Given the description of an element on the screen output the (x, y) to click on. 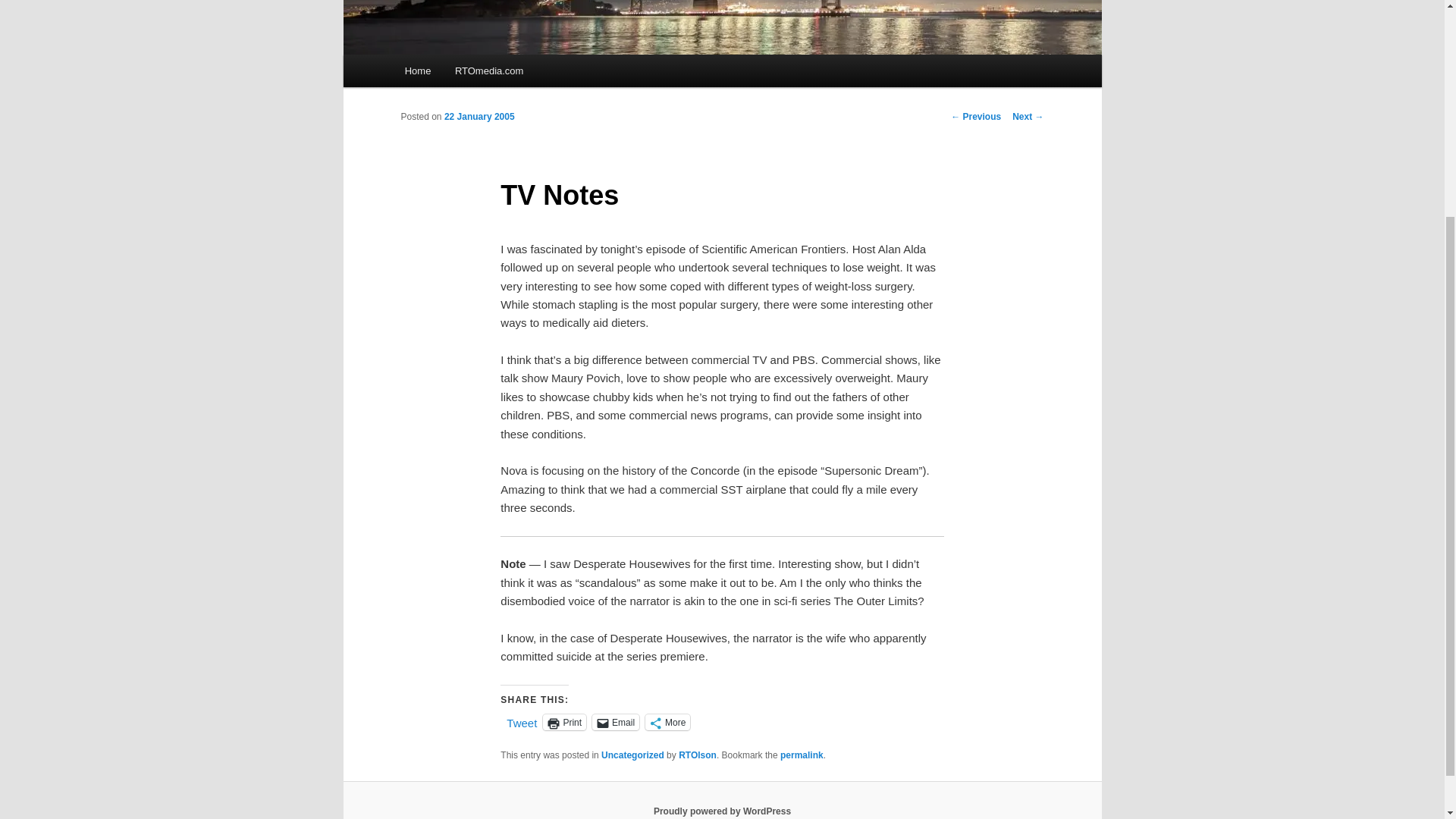
11:56 pm MST (479, 116)
Tweet (521, 721)
Permalink to TV Notes (802, 755)
Print (564, 722)
Semantic Personal Publishing Platform (721, 810)
Email (615, 722)
RTOmedia.com (488, 70)
Click to email a link to a friend (615, 722)
Click to print (564, 722)
More (667, 722)
